Given the description of an element on the screen output the (x, y) to click on. 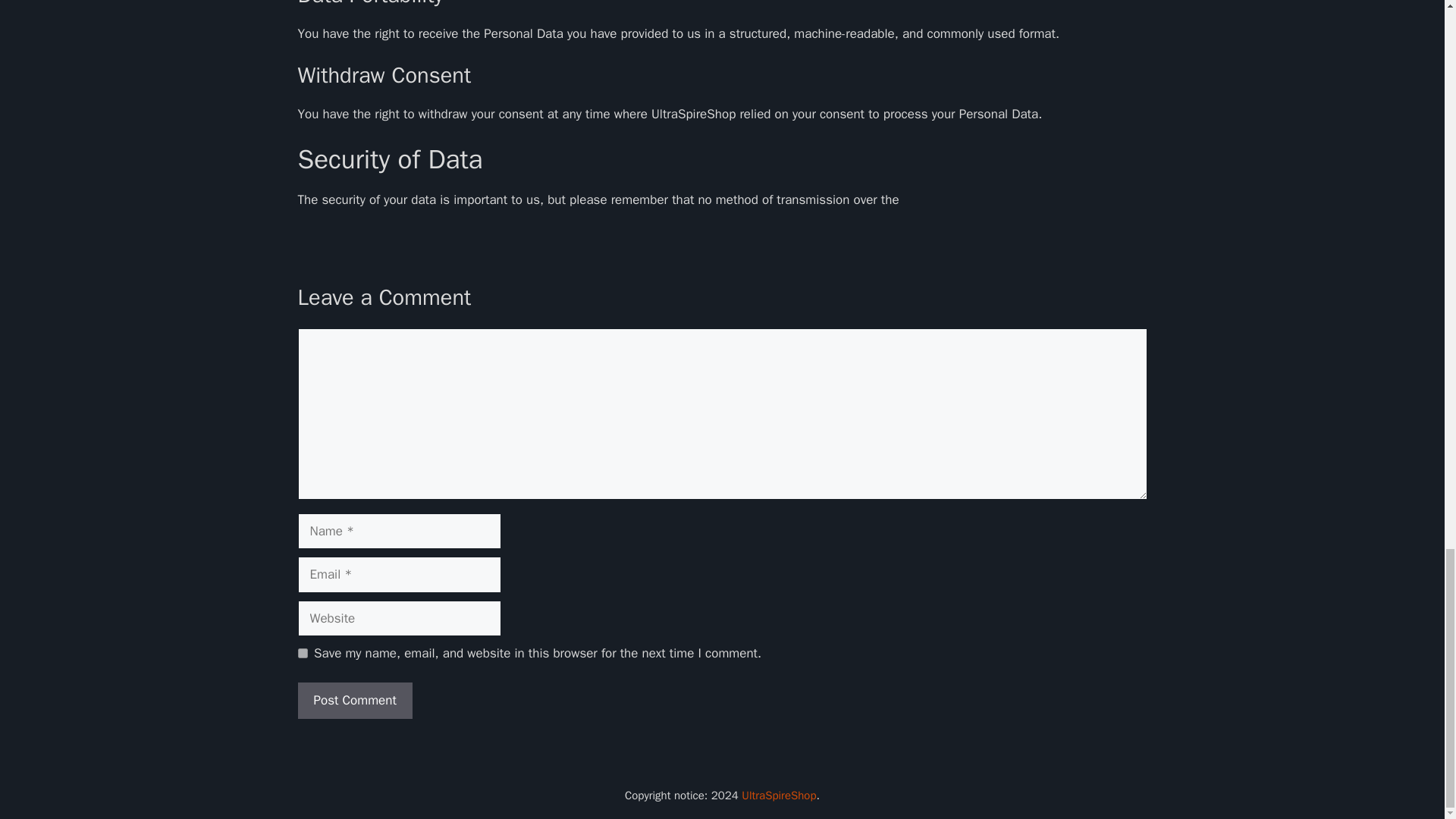
Post Comment (354, 700)
UltraSpireShop (778, 795)
Post Comment (354, 700)
yes (302, 653)
